Given the description of an element on the screen output the (x, y) to click on. 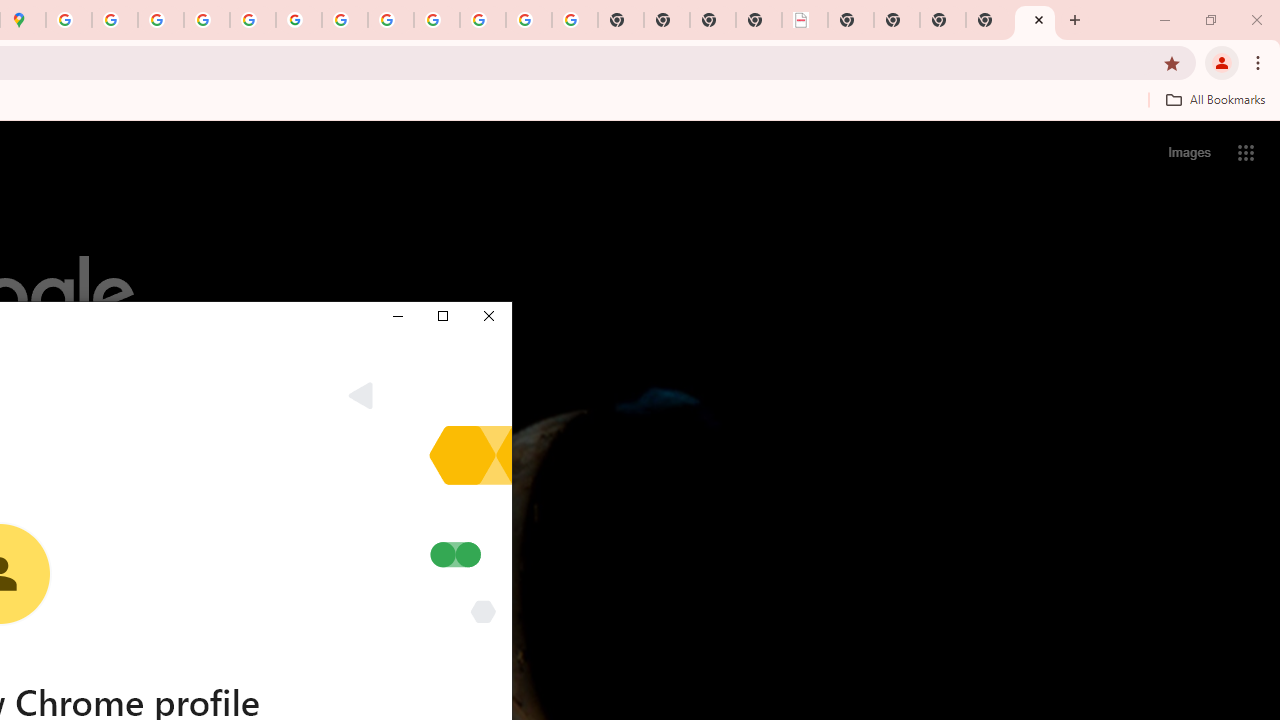
Privacy Help Center - Policies Help (207, 20)
